Given the description of an element on the screen output the (x, y) to click on. 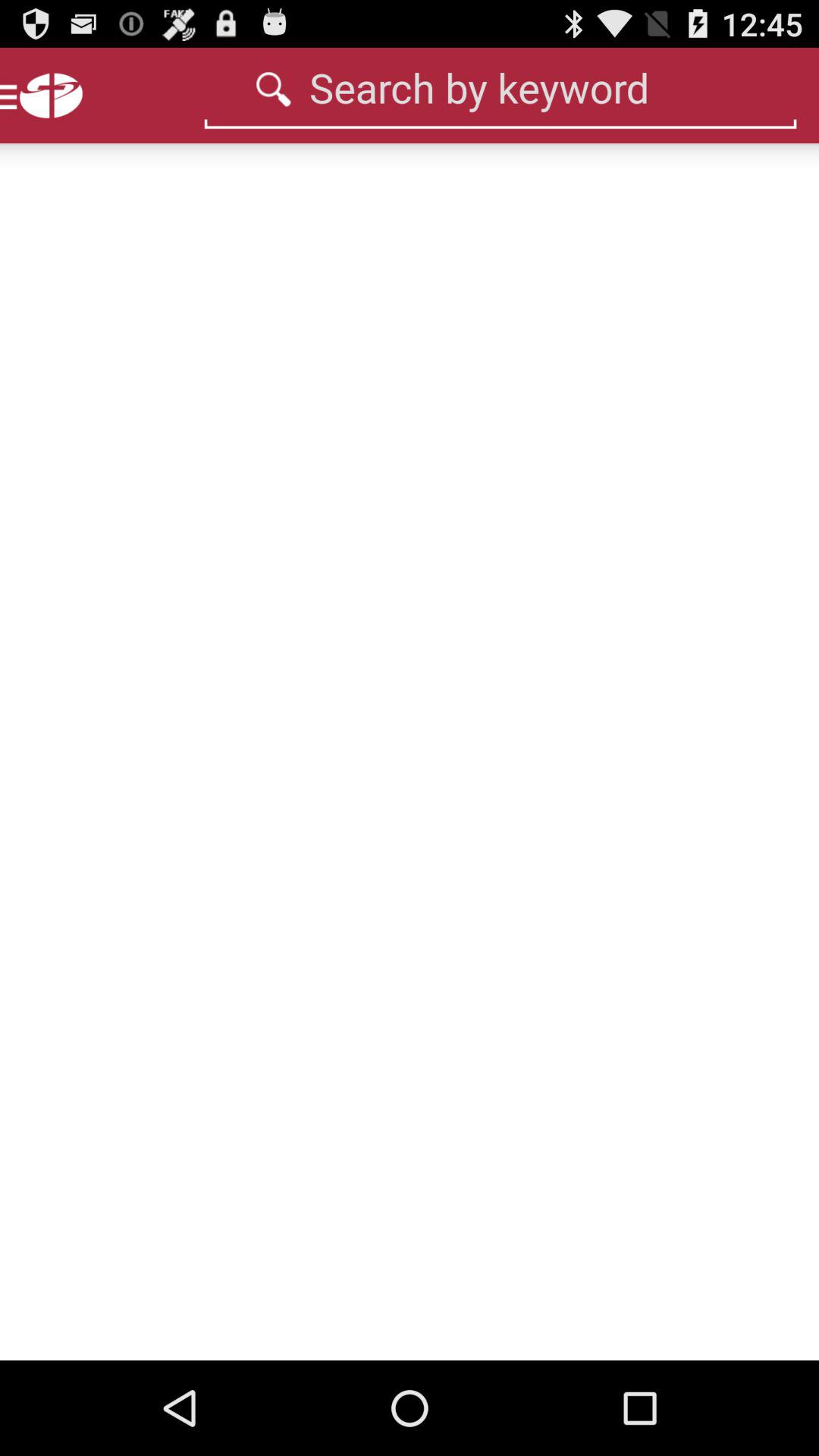
tap icon at the top (500, 87)
